Given the description of an element on the screen output the (x, y) to click on. 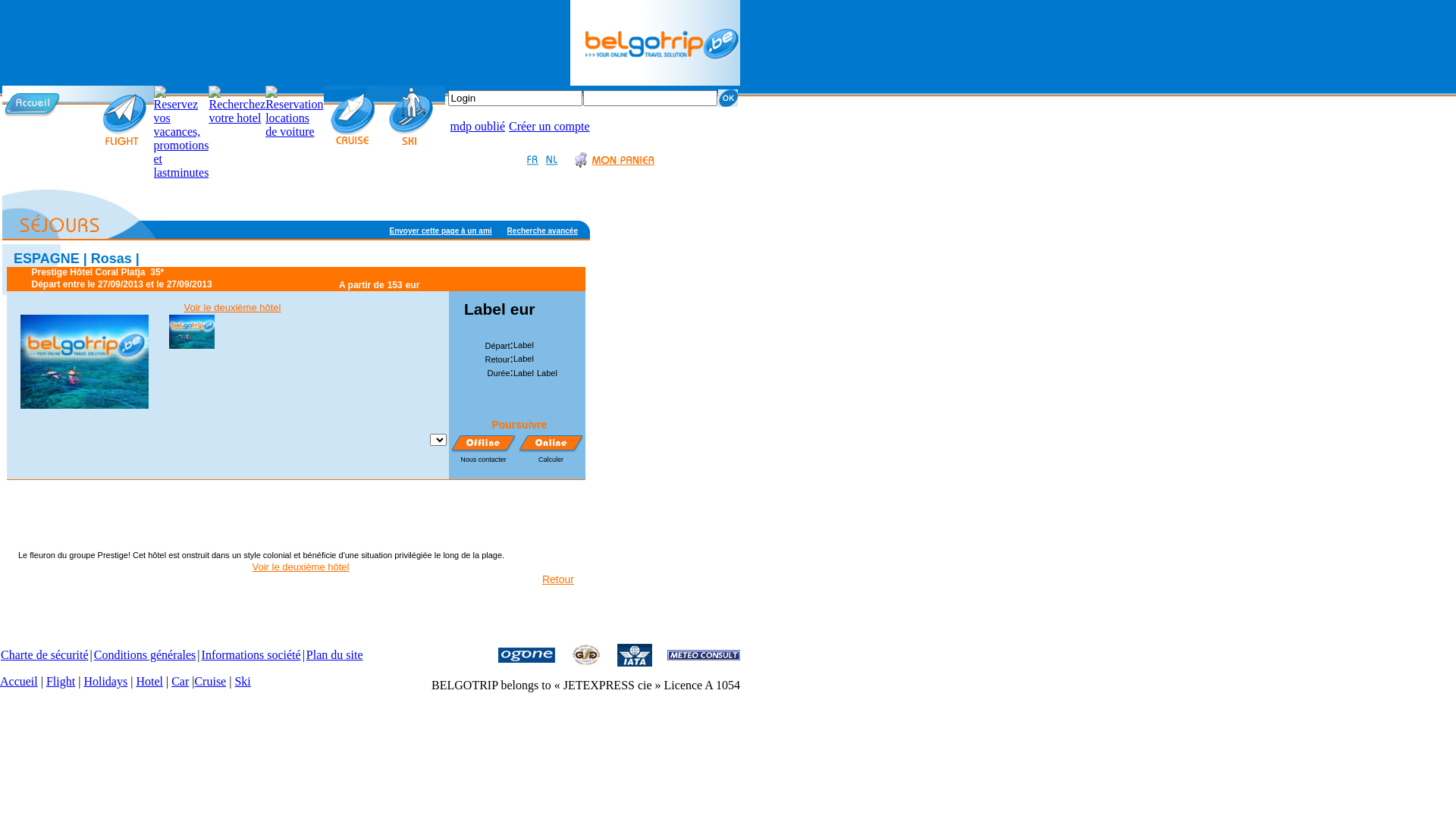
Belgotrip agence de voyage Belgique Element type: hover (655, 42)
Accueil Element type: text (18, 680)
Flight Element type: text (60, 680)
Car Element type: text (179, 680)
Recherchez votre hotel  Element type: hover (236, 105)
Holidays Element type: text (105, 680)
Belgotrip agence de voyage Belgique Element type: hover (655, 81)
Hotel Element type: text (149, 680)
Belgotrip agence de voyage Belgique Element type: hover (31, 103)
Reservation locations de voiture Element type: hover (294, 111)
Recherchez votre hotel  Element type: hover (236, 117)
Retour Element type: text (558, 579)
Ski Element type: text (242, 680)
Plan du site Element type: text (334, 654)
Recherchez billet d'avion Element type: hover (125, 143)
Reservez vos vacances, promotions et lastminutes Element type: hover (180, 132)
Cruise Element type: text (209, 680)
Reservez vos vacances, promotions et lastminutes Element type: hover (180, 172)
Recherchez billet d'avion Element type: hover (125, 116)
Reservation locations de voiture Element type: hover (294, 131)
